Given the description of an element on the screen output the (x, y) to click on. 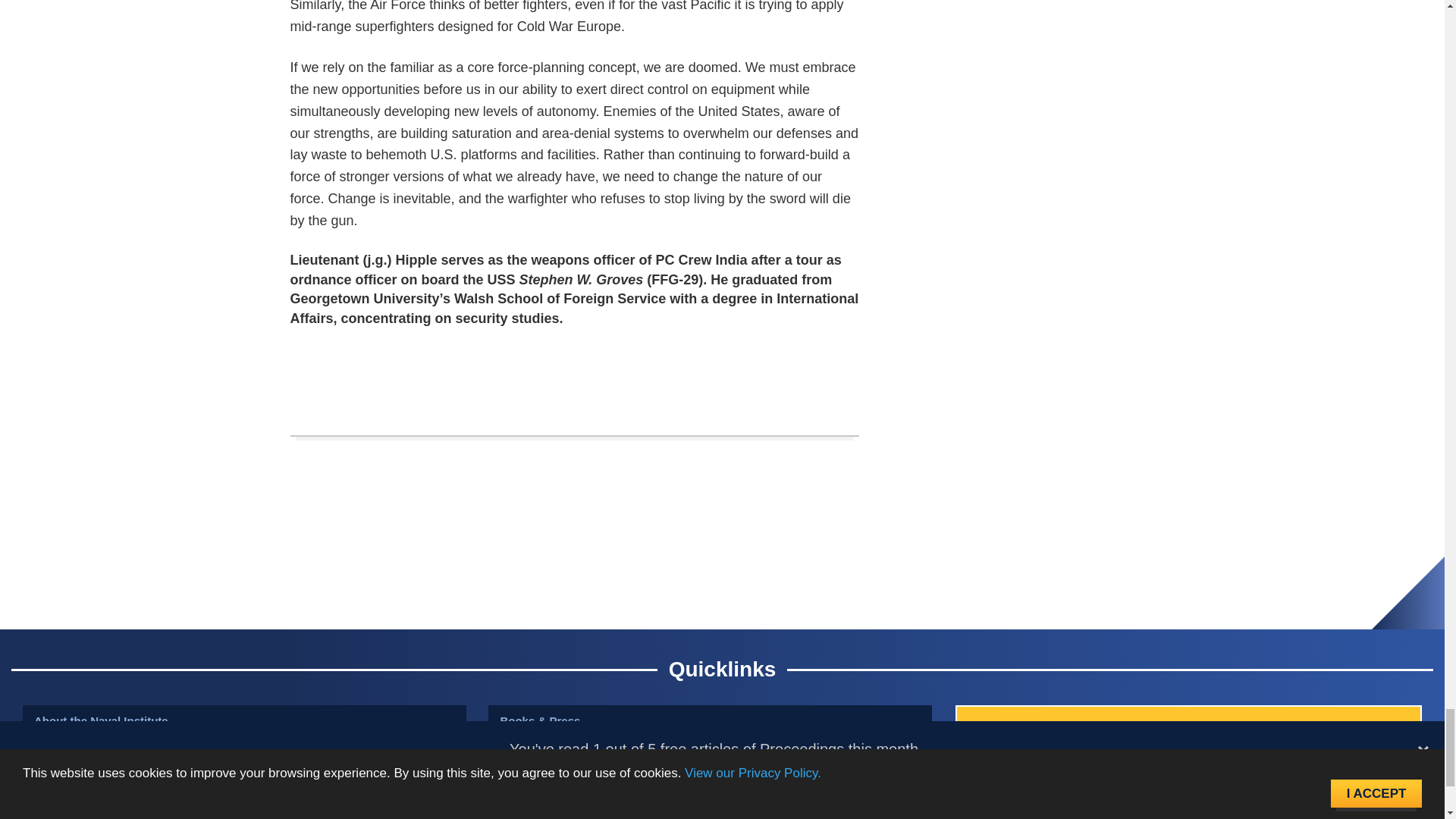
3rd party ad content (574, 363)
3rd party ad content (721, 575)
